Given the description of an element on the screen output the (x, y) to click on. 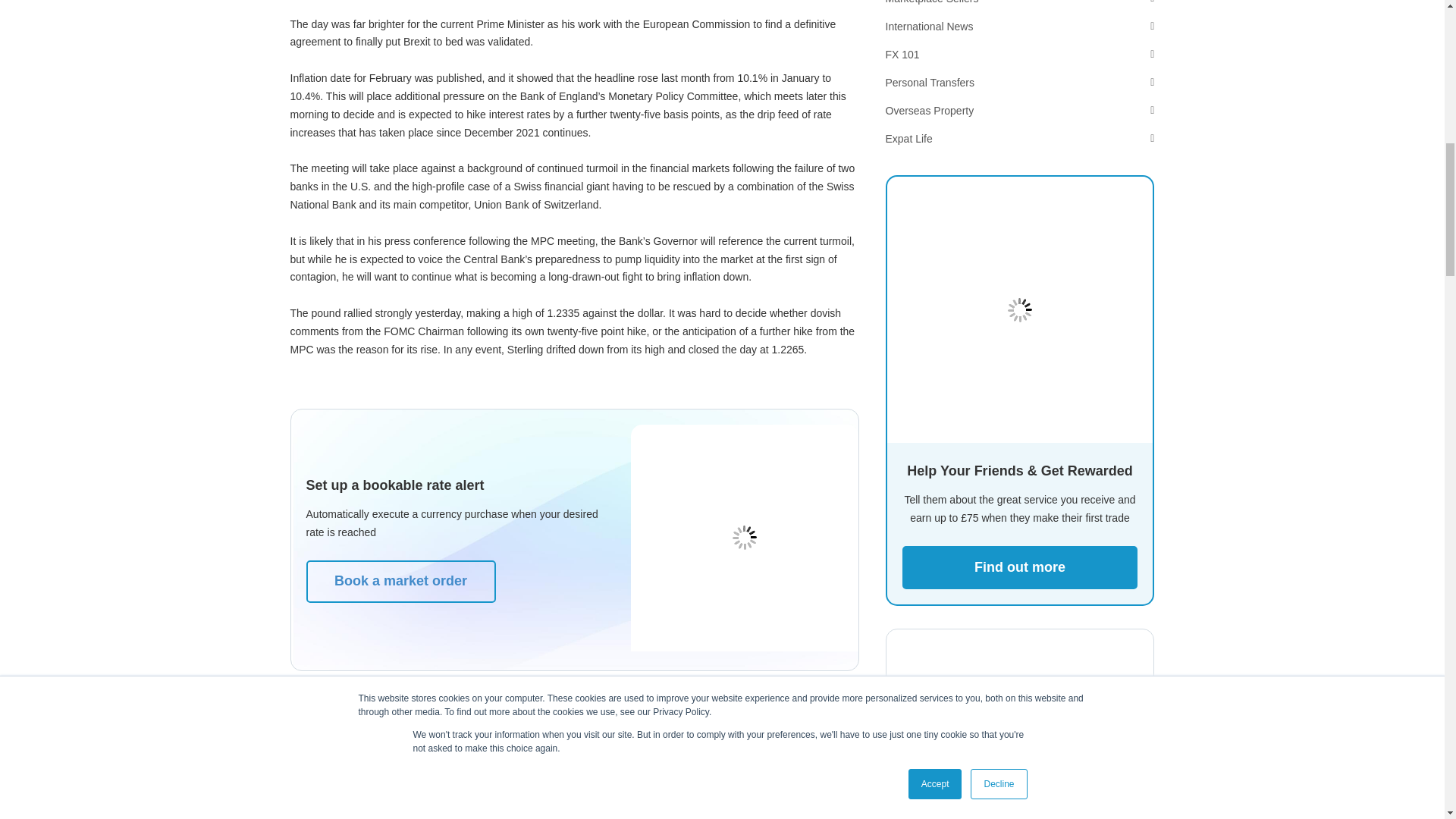
Book a market order (400, 581)
